Given the description of an element on the screen output the (x, y) to click on. 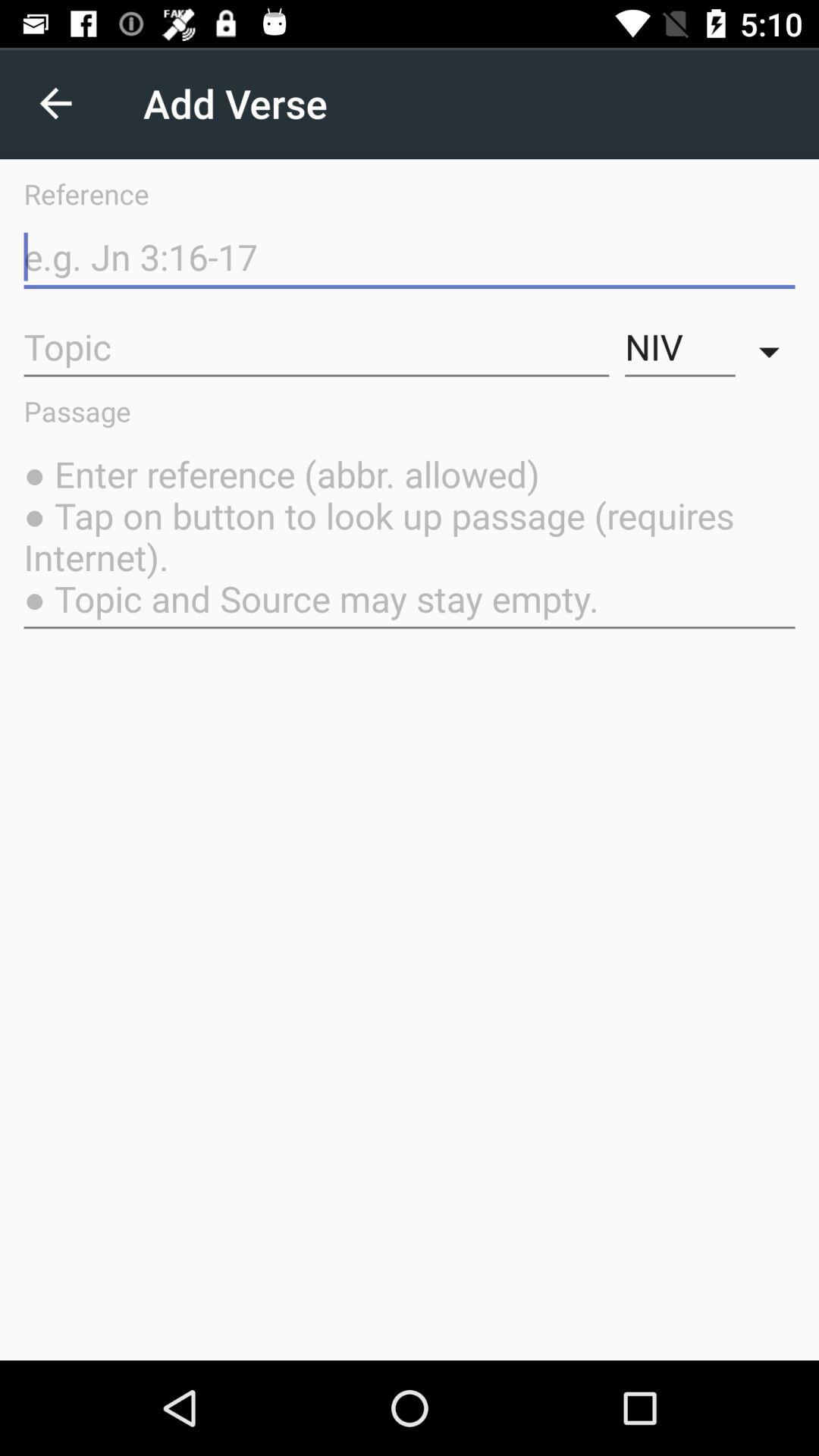
choose item above passage (680, 347)
